Given the description of an element on the screen output the (x, y) to click on. 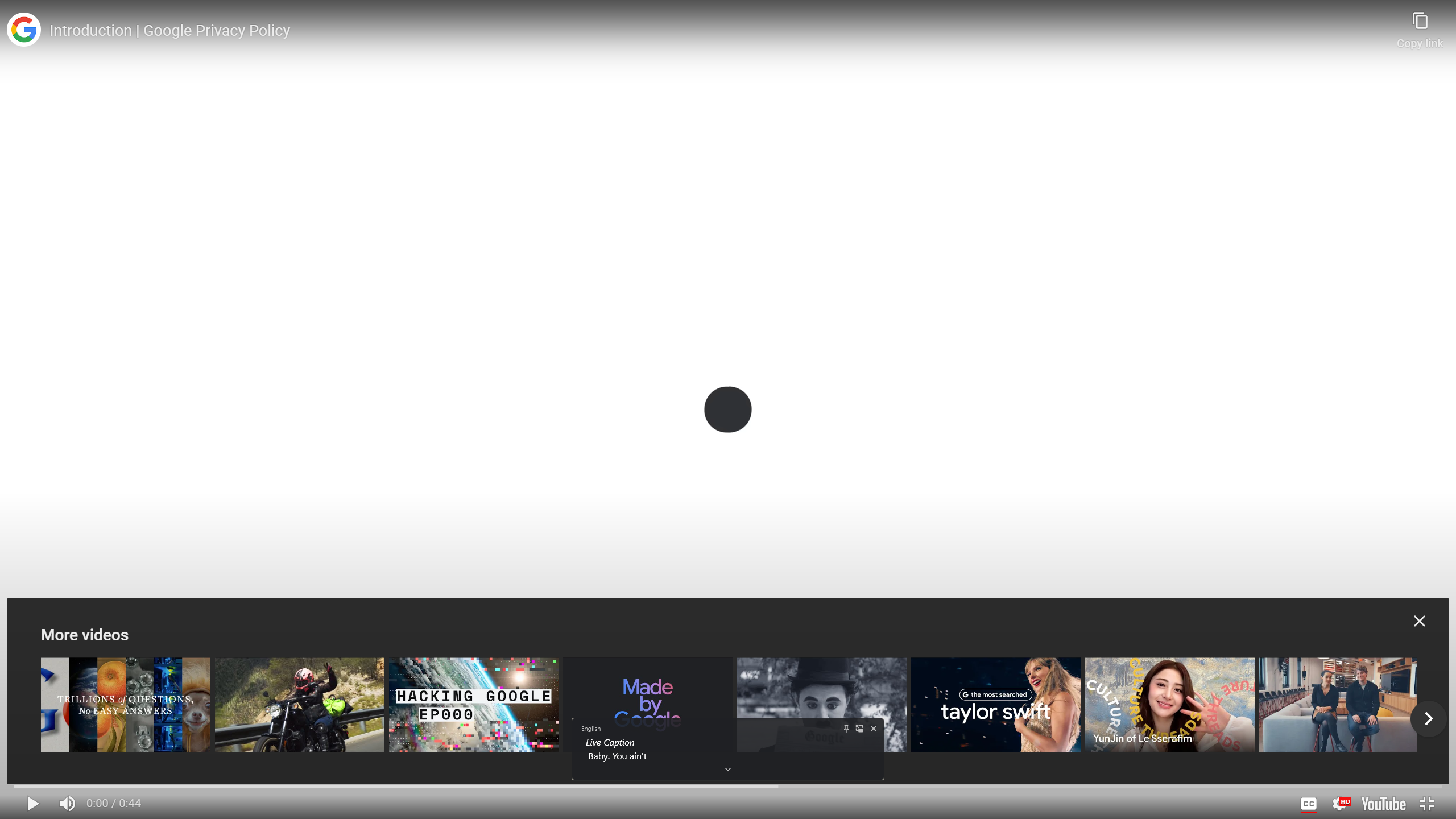
Subtitles/closed captions unavailable (1307, 803)
Settings (1338, 803)
Watch on YouTube (1383, 803)
Introduction | Google Privacy Policy (719, 30)
Charlie Chaplin Google Doodle (821, 704)
